Given the description of an element on the screen output the (x, y) to click on. 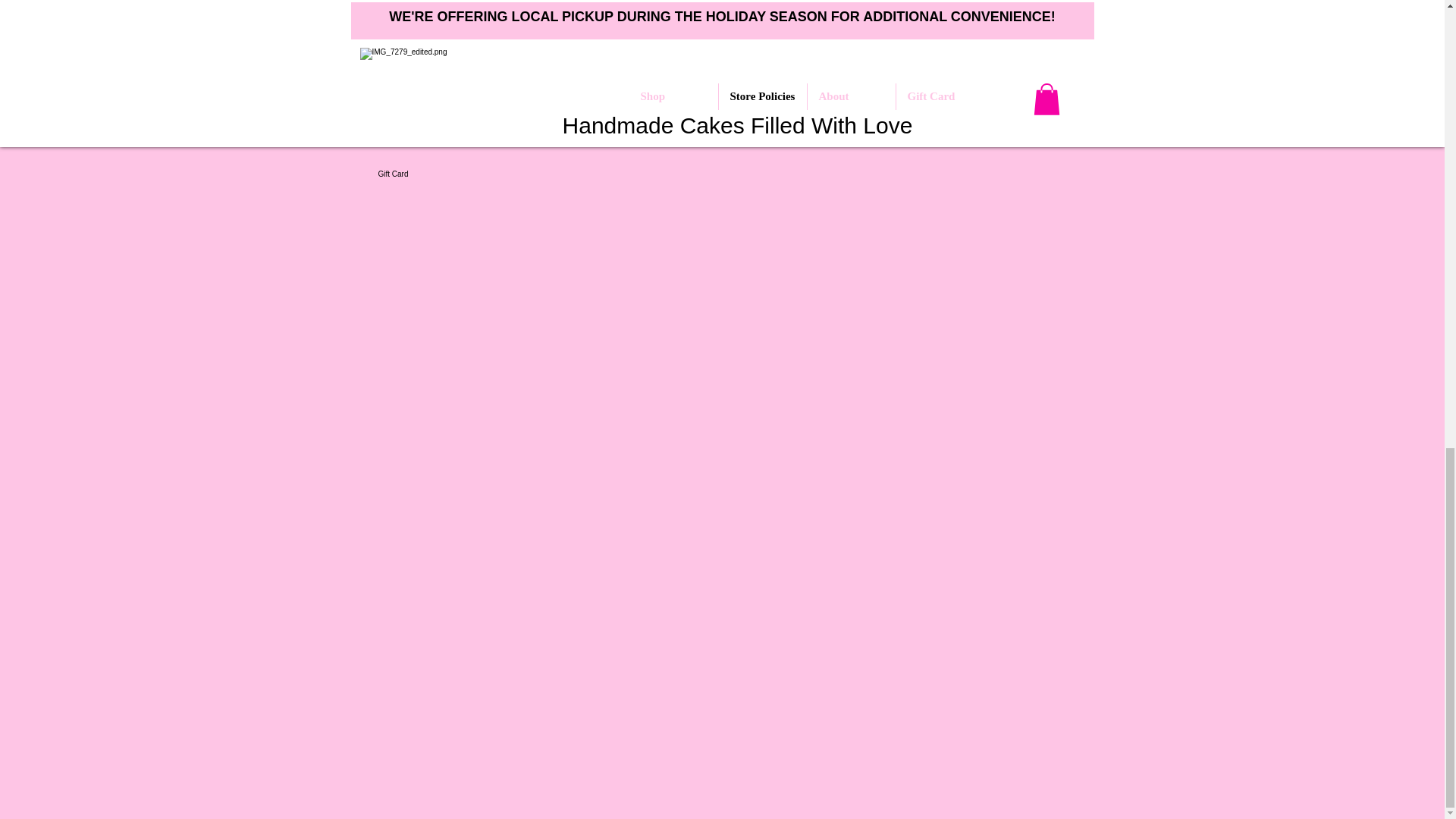
Gift Card (425, 173)
Store Policies (425, 66)
About (425, 120)
Shop (425, 19)
